Given the description of an element on the screen output the (x, y) to click on. 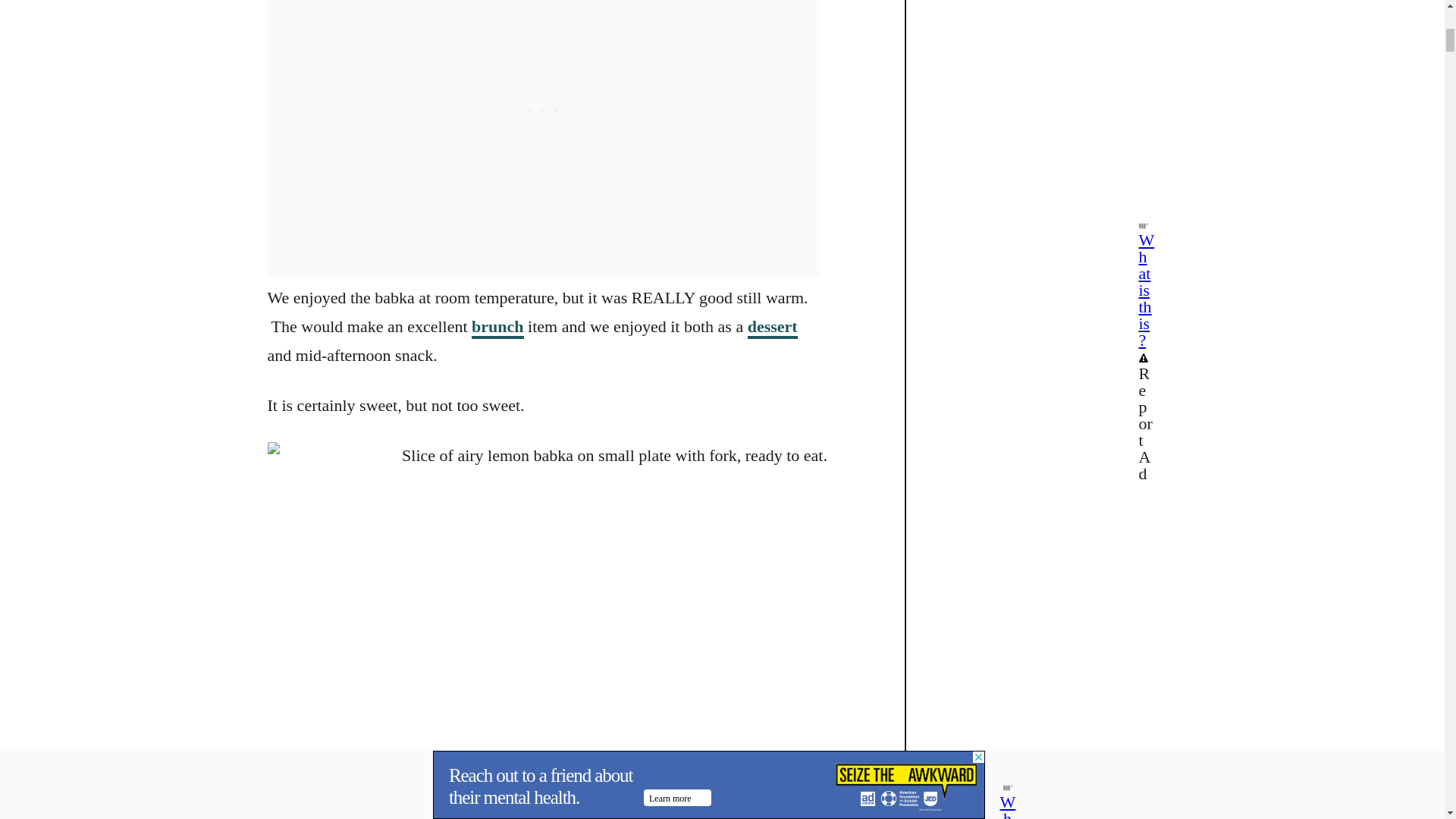
dessert (772, 327)
brunch (496, 327)
